Given the description of an element on the screen output the (x, y) to click on. 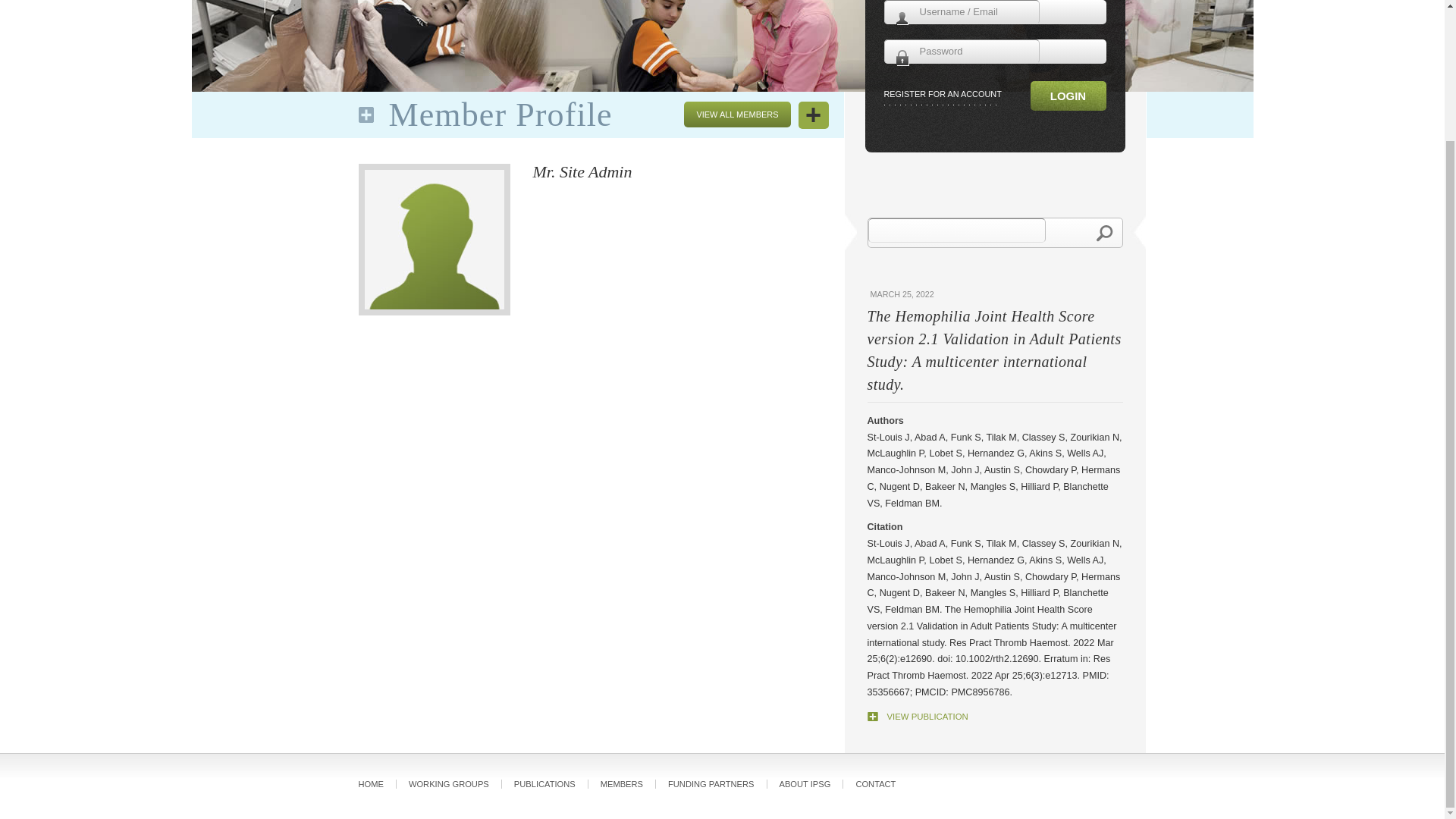
Login (1067, 95)
VIEW ALL MEMBERS (737, 114)
Login (1067, 95)
MEMBERS (622, 783)
WORKING GROUPS (449, 783)
Enter the terms you wish to search for. (956, 230)
CONTACT (875, 783)
PUBLICATIONS (545, 783)
REGISTER FOR AN ACCOUNT (942, 95)
FUNDING PARTNERS (711, 783)
VIEW PUBLICATION (917, 715)
HOME (377, 783)
ABOUT IPSG (805, 783)
